Given the description of an element on the screen output the (x, y) to click on. 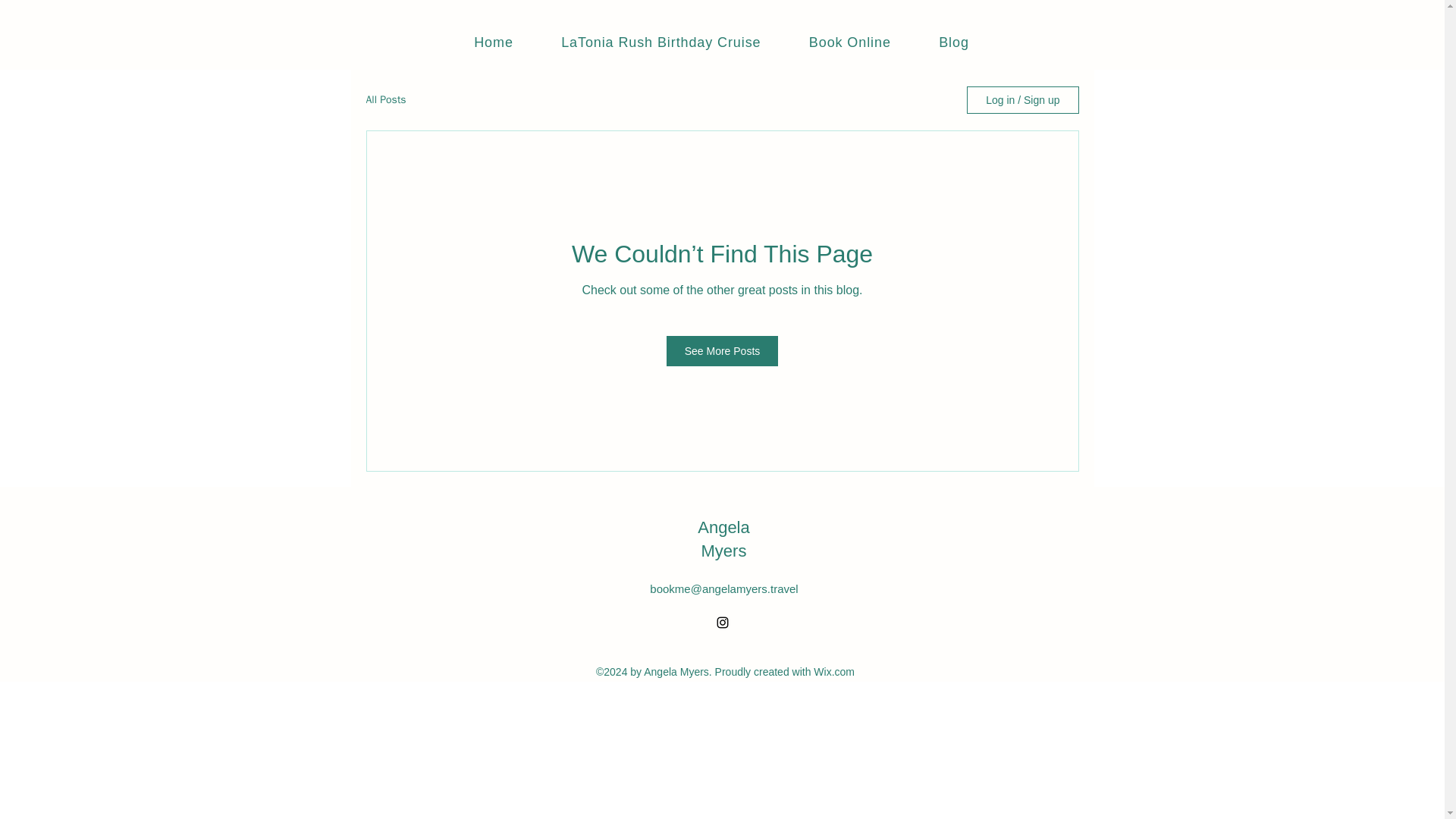
Book Online (849, 42)
Blog (953, 42)
Home (493, 42)
LaTonia Rush Birthday Cruise (660, 42)
All Posts (385, 100)
See More Posts (722, 350)
